Given the description of an element on the screen output the (x, y) to click on. 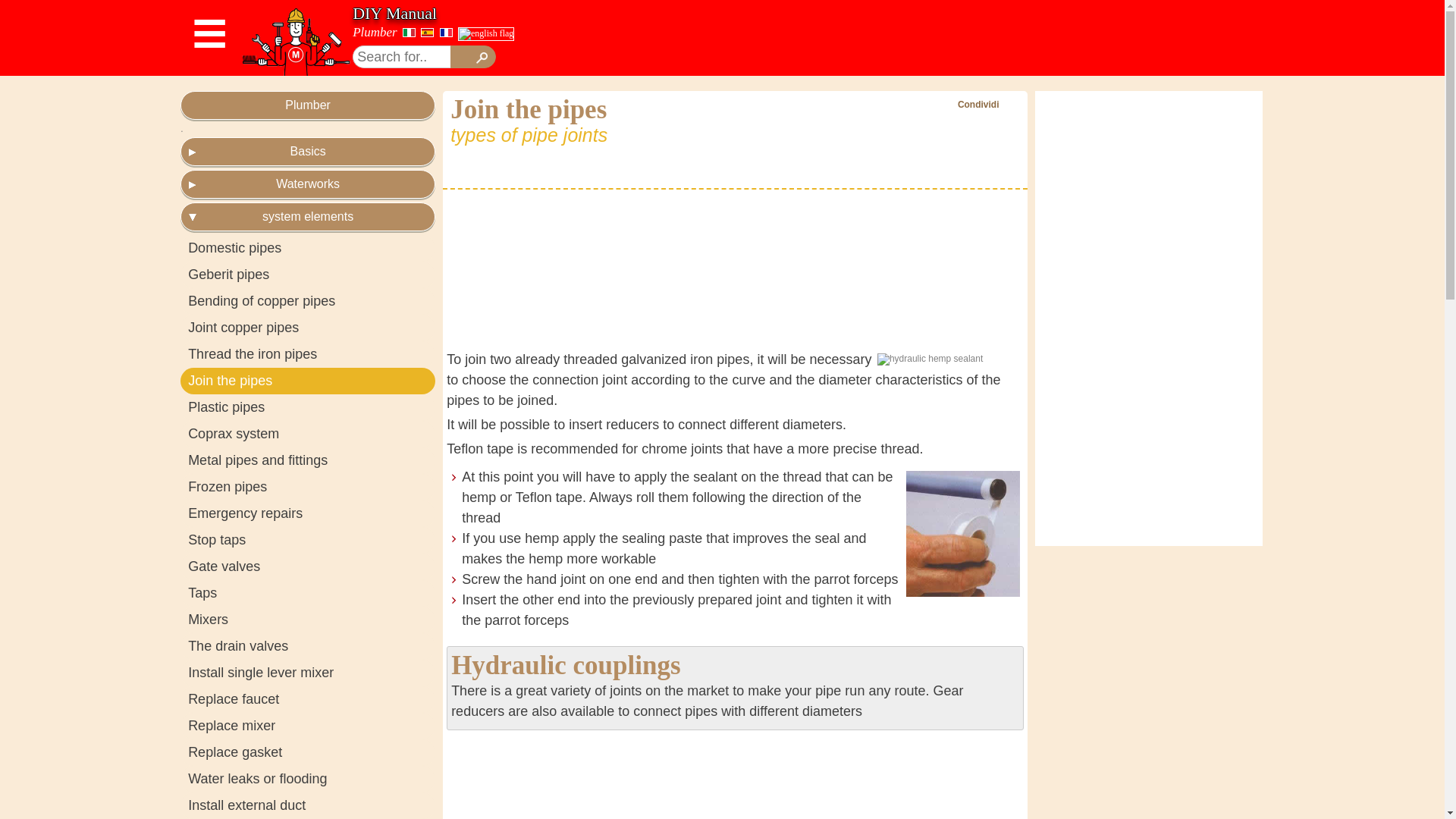
Plumber (307, 104)
Plumber (374, 32)
DIY Manual (394, 13)
Basics (307, 151)
